Given the description of an element on the screen output the (x, y) to click on. 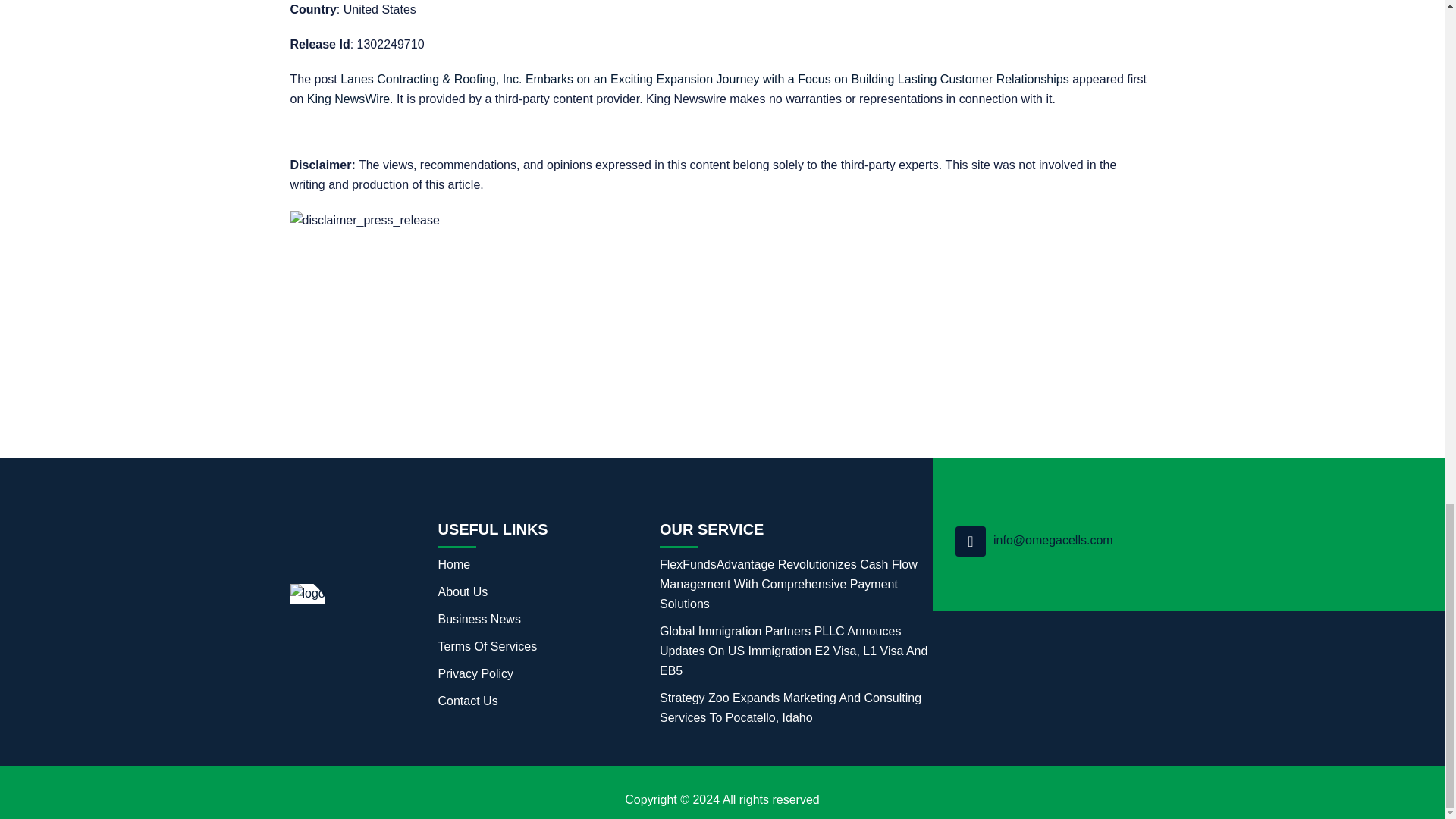
Privacy Policy (475, 677)
Home (454, 568)
King NewsWire (348, 98)
About Us (462, 595)
Business News (479, 623)
Contact Us (467, 705)
Terms Of Services (487, 650)
